Given the description of an element on the screen output the (x, y) to click on. 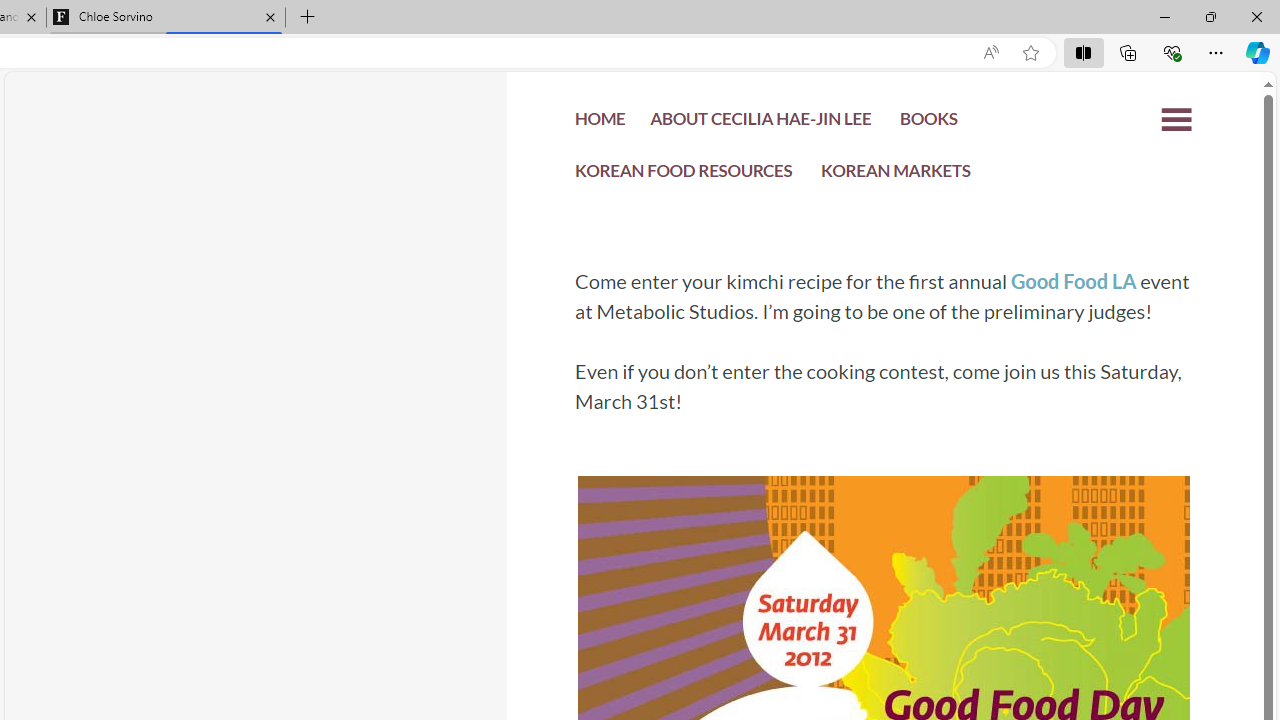
ABOUT CECILIA HAE-JIN LEE (760, 121)
KOREAN MARKETS (895, 175)
HOME (599, 124)
Chloe Sorvino (166, 17)
KOREAN FOOD RESOURCES (683, 175)
BOOKS (928, 121)
KOREAN MARKETS (895, 173)
